Given the description of an element on the screen output the (x, y) to click on. 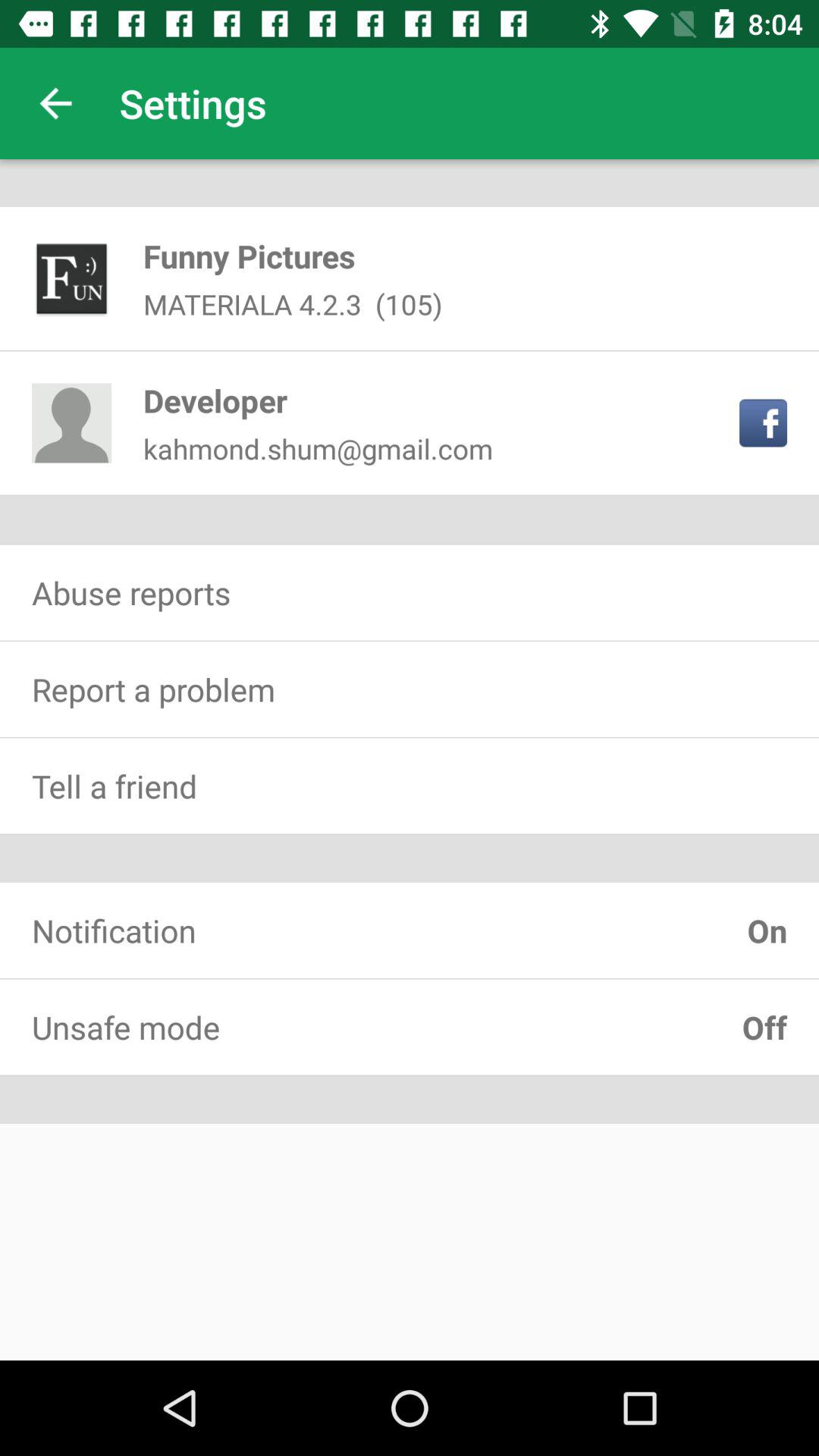
launch tell a friend icon (409, 785)
